Given the description of an element on the screen output the (x, y) to click on. 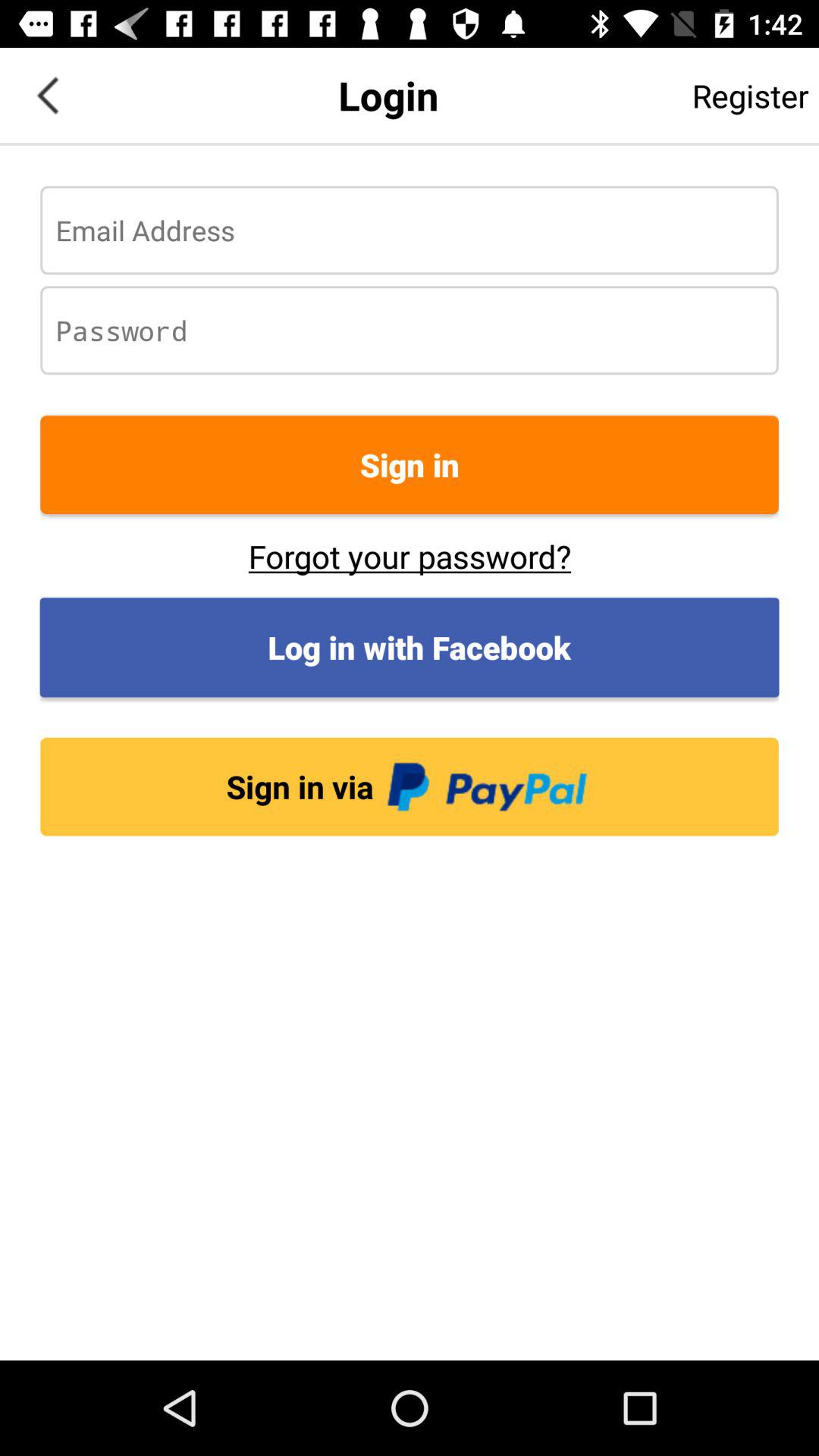
tap the icon next to login icon (47, 95)
